Given the description of an element on the screen output the (x, y) to click on. 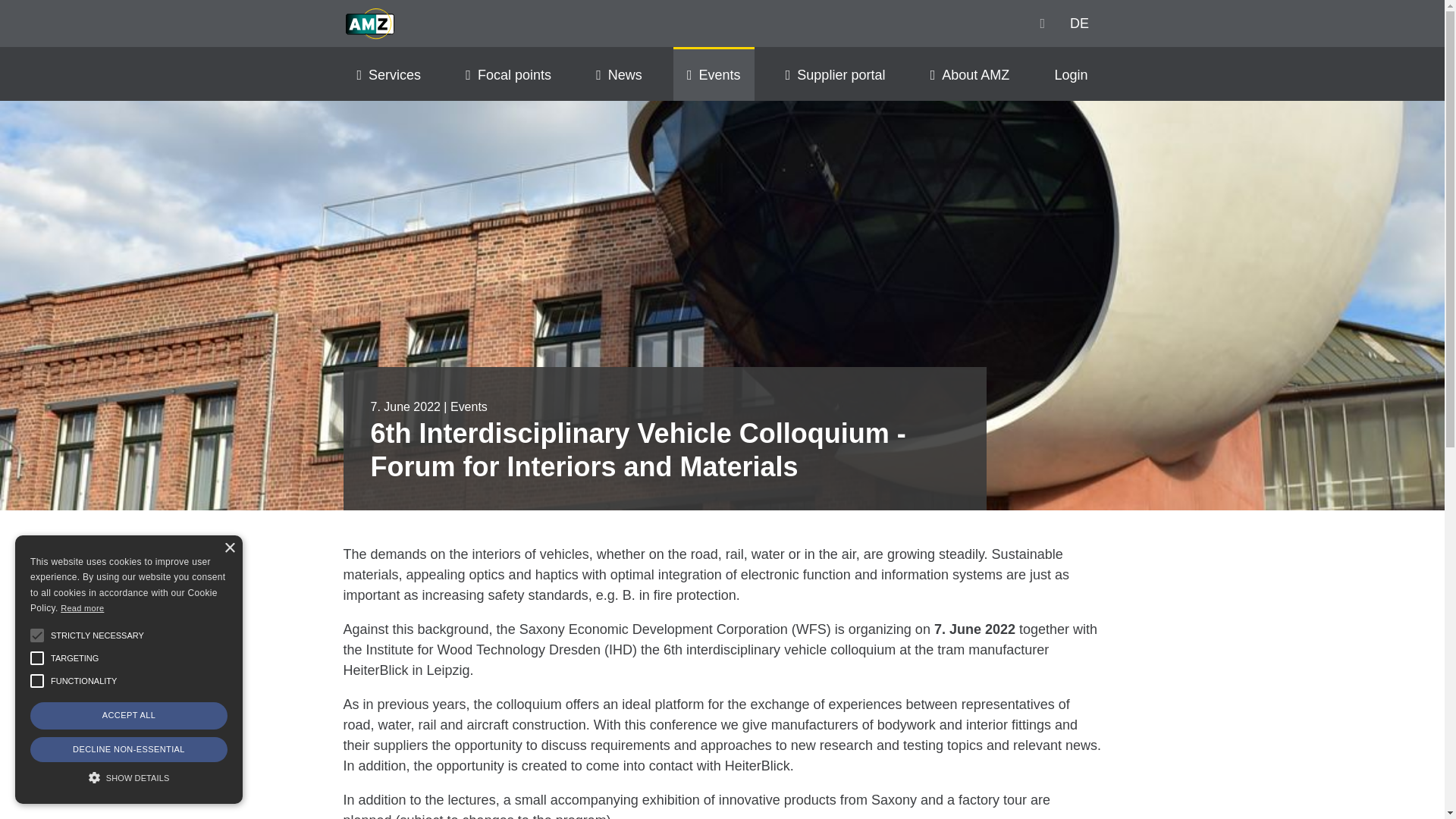
News (619, 73)
Focal points (507, 73)
About AMZ (970, 73)
Das Netzwerks der automobilen Zulieferkette in Sachsen (369, 23)
Supplier portal (835, 73)
DE (1078, 23)
Events (713, 73)
Services (387, 73)
Deutsch (1078, 23)
